Given the description of an element on the screen output the (x, y) to click on. 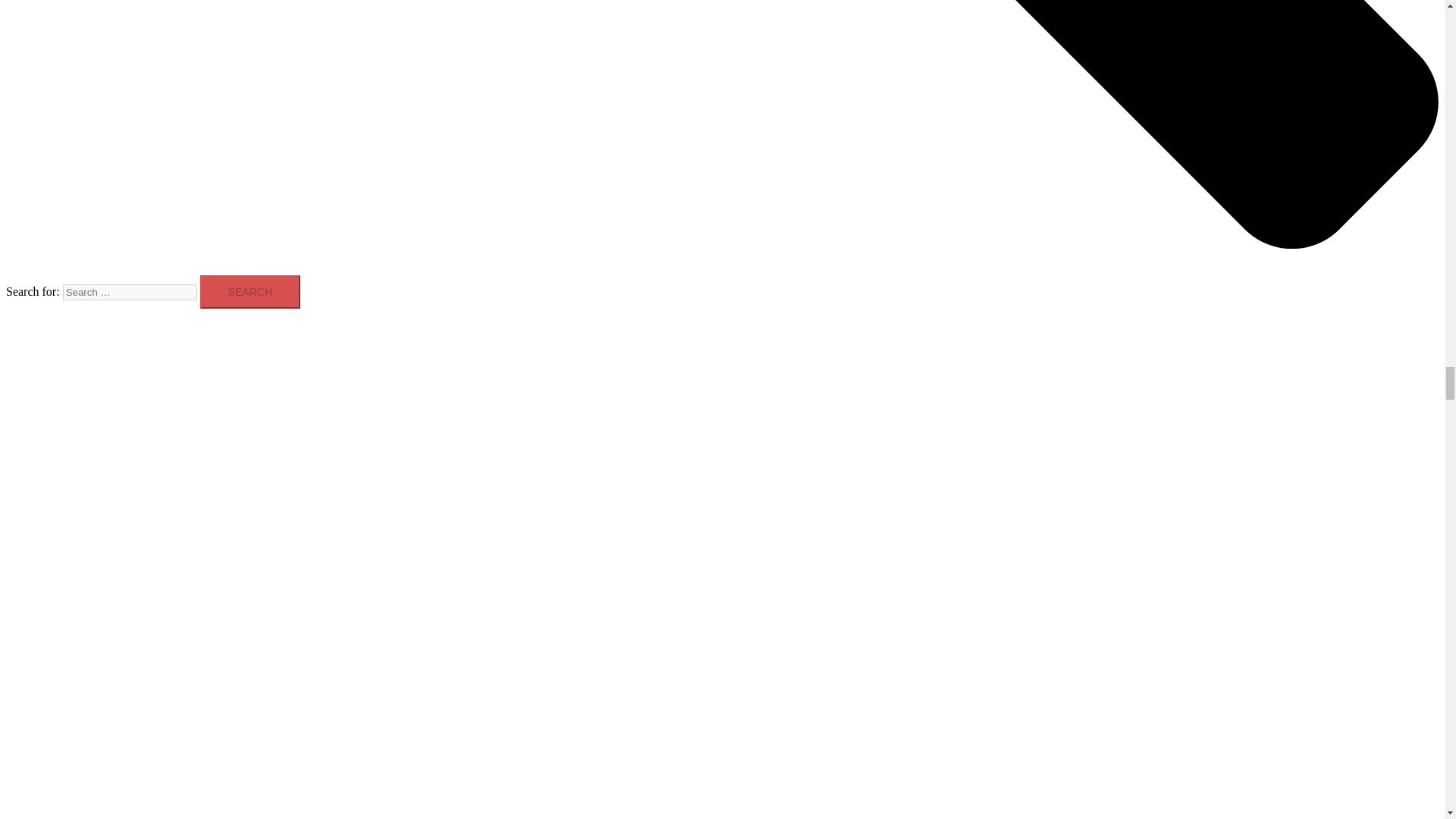
Close menu (40, 428)
flirtybor.com (69, 347)
Company (62, 462)
Search (249, 291)
Search (249, 291)
Search (249, 291)
